Given the description of an element on the screen output the (x, y) to click on. 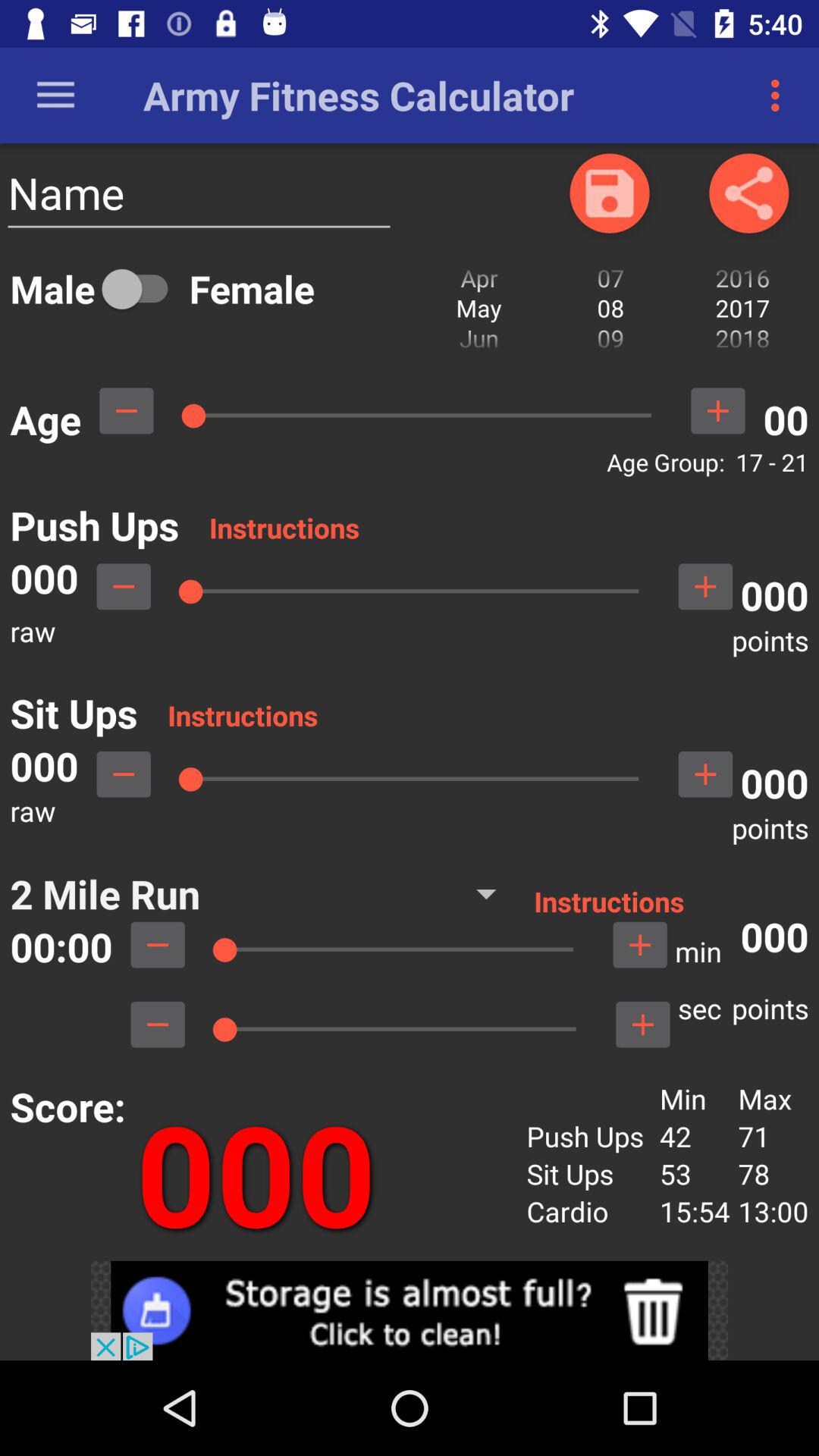
sit ups to down (123, 774)
